Given the description of an element on the screen output the (x, y) to click on. 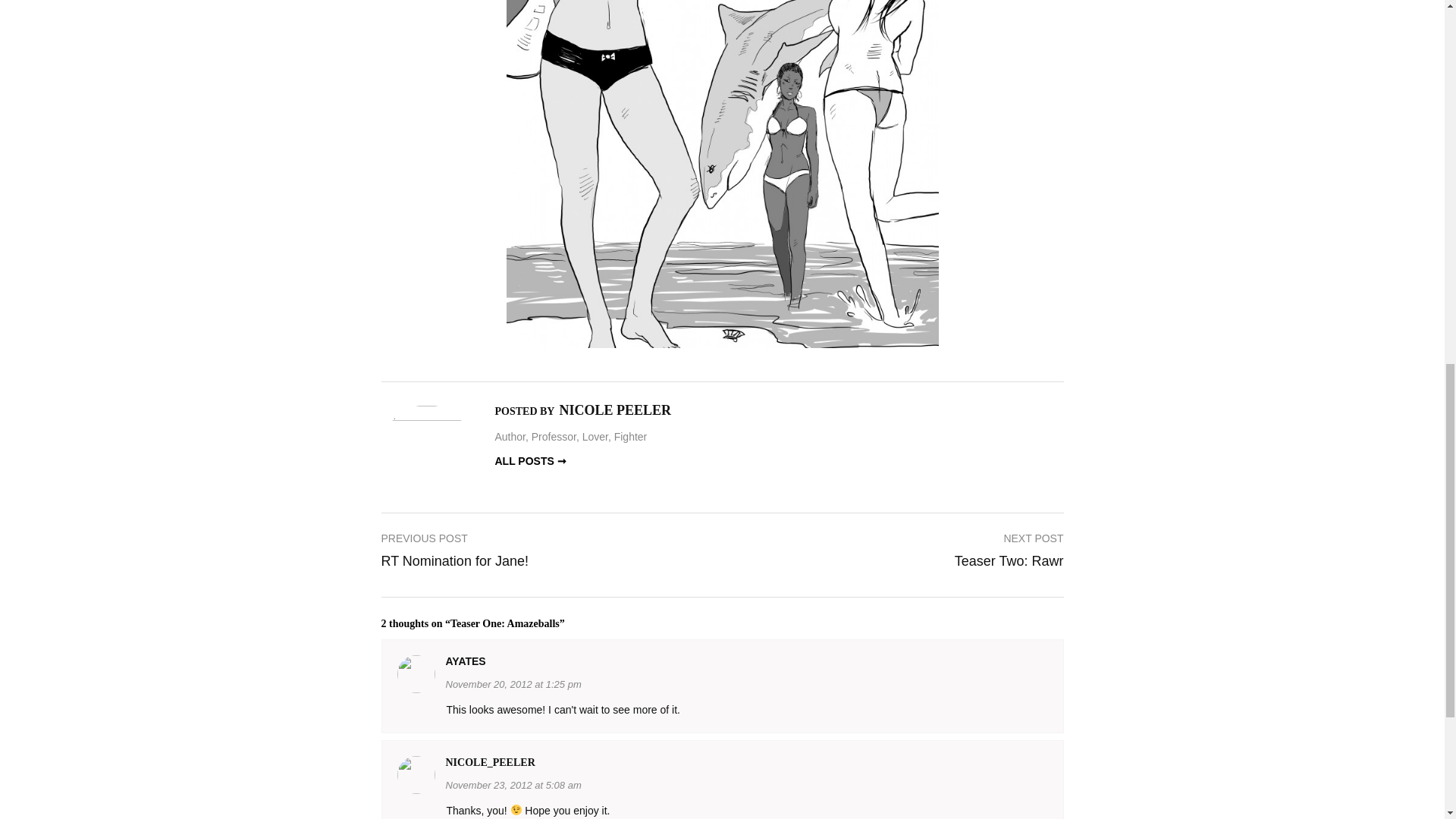
November 20, 2012 at 1:25 pm (453, 548)
November 23, 2012 at 5:08 am (512, 683)
